Given the description of an element on the screen output the (x, y) to click on. 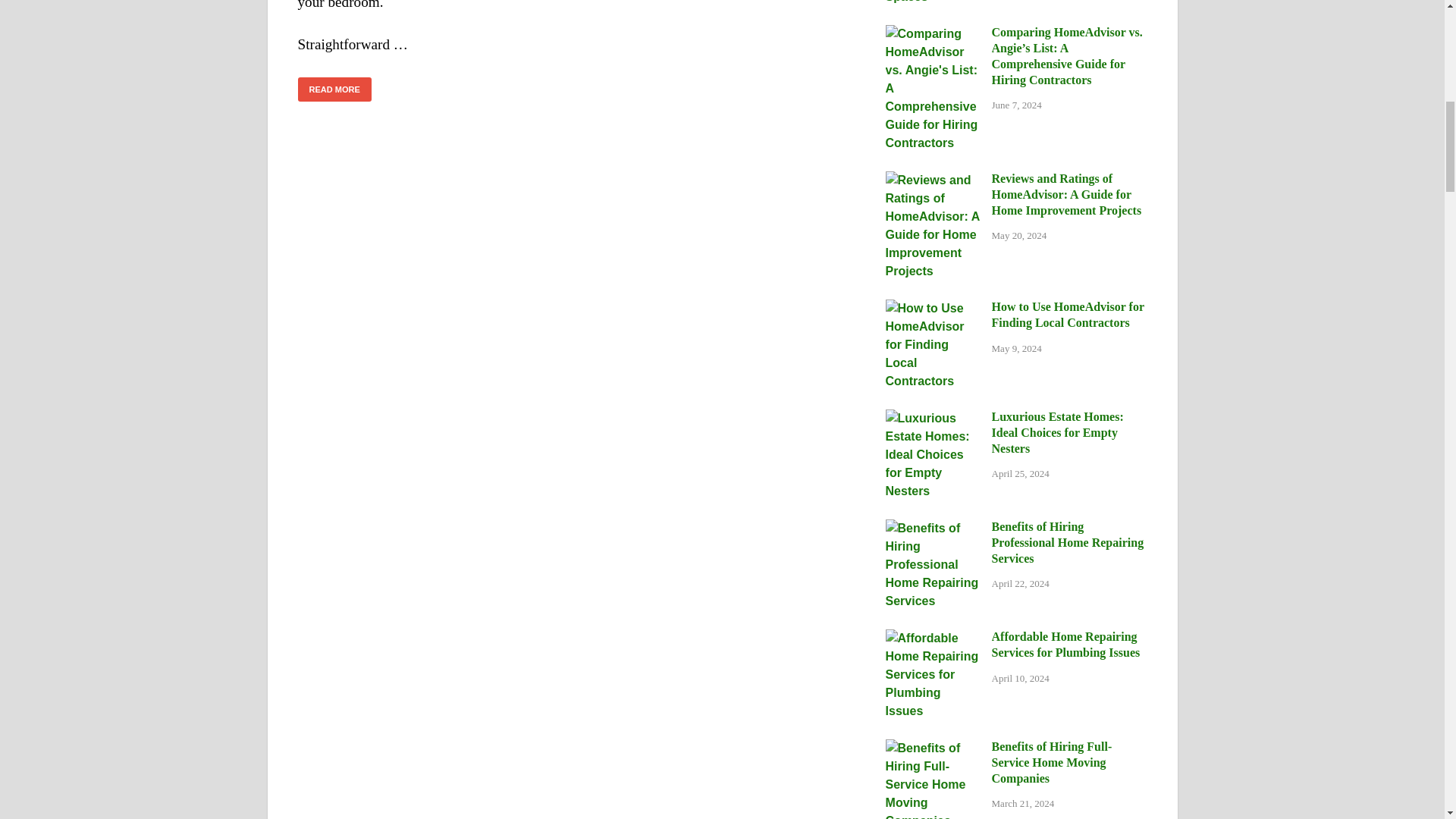
Benefits of Hiring Professional Home Repairing Services (932, 527)
Benefits of Hiring Full-Service Home Moving Companies (932, 748)
How to Use HomeAdvisor for Finding Local Contractors (932, 308)
Affordable Home Repairing Services for Plumbing Issues (932, 637)
Luxurious Estate Homes: Ideal Choices for Empty Nesters (932, 418)
